Given the description of an element on the screen output the (x, y) to click on. 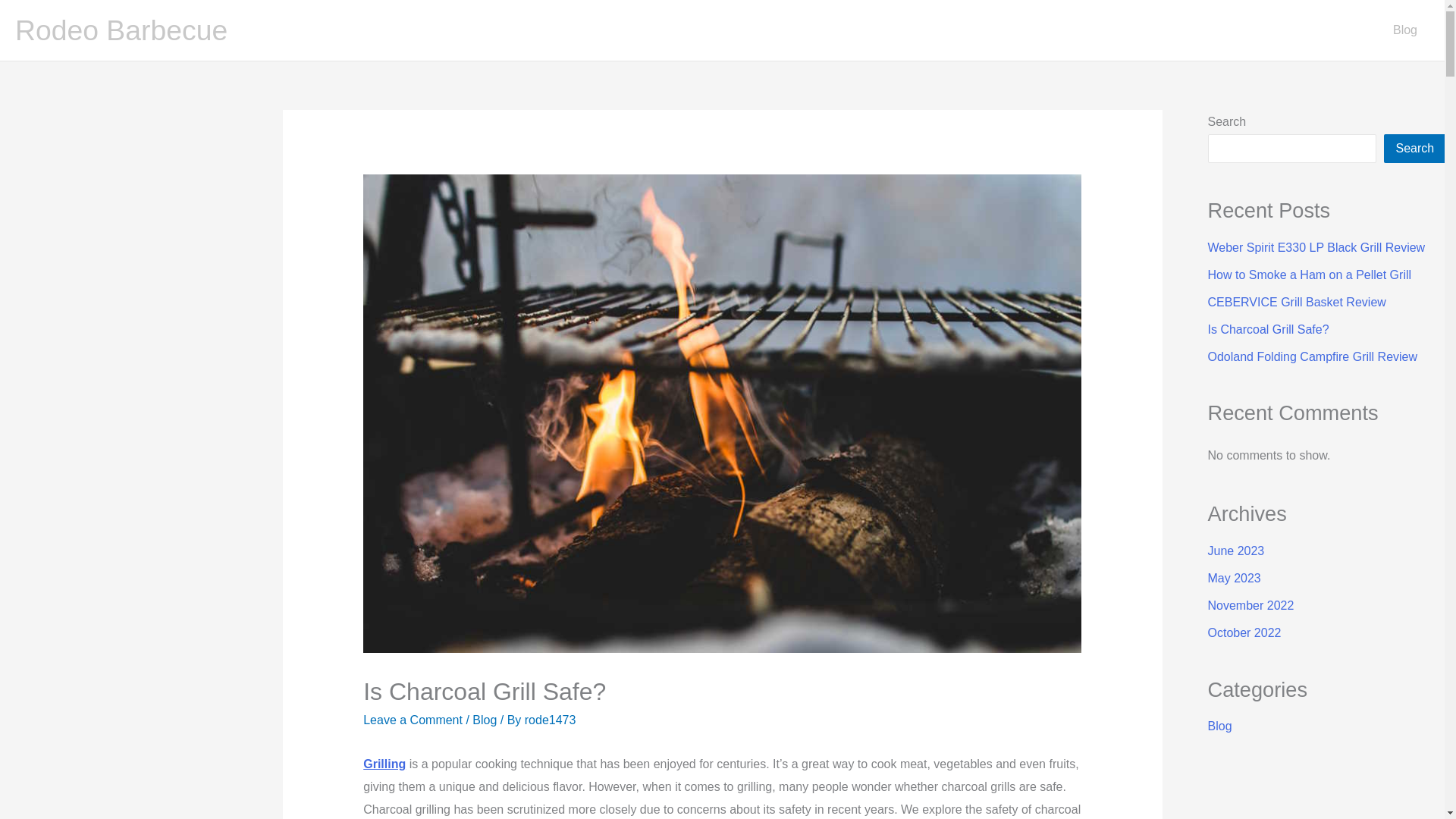
Blog (1219, 725)
CEBERVICE Grill Basket Review (1296, 301)
Blog (483, 719)
How to Smoke a Ham on a Pellet Grill (1308, 274)
October 2022 (1244, 632)
May 2023 (1233, 577)
rode1473 (550, 719)
Leave a Comment (412, 719)
Rodeo Barbecue (120, 29)
Grilling (384, 763)
